Given the description of an element on the screen output the (x, y) to click on. 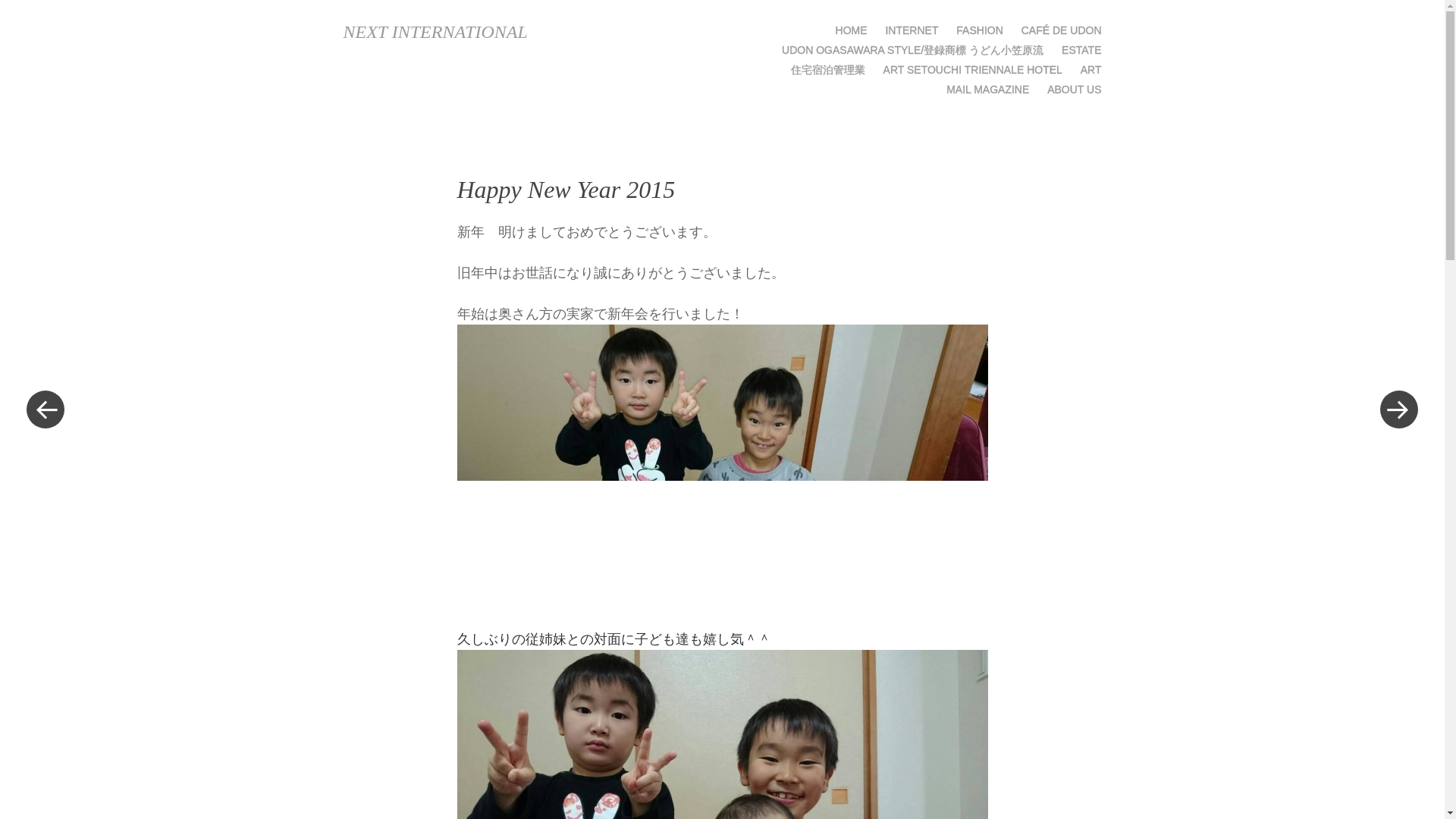
MAIL MAGAZINE (987, 89)
HOME (851, 30)
ABOUT US (1073, 89)
INTERNET (911, 30)
NEXT INTERNATIONAL (434, 31)
ART (1091, 69)
FASHION (979, 30)
NEXT INTERNATIONAL (434, 31)
ART SETOUCHI TRIENNALE HOTEL (972, 69)
ESTATE (1080, 50)
